Given the description of an element on the screen output the (x, y) to click on. 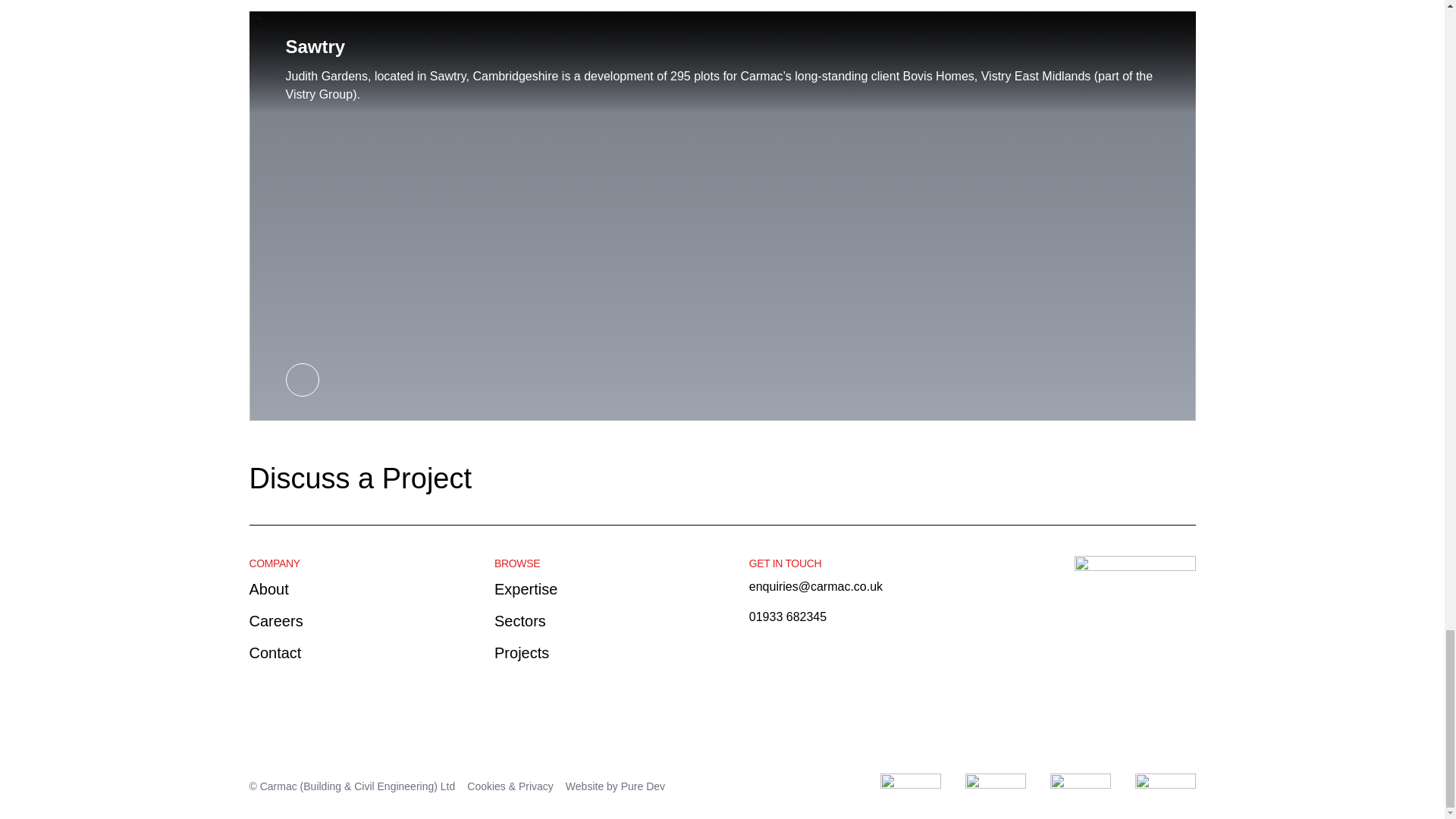
Sectors (520, 620)
Careers (275, 620)
About (268, 588)
Contact (274, 651)
Discuss a Project (365, 478)
Expertise (526, 588)
